Given the description of an element on the screen output the (x, y) to click on. 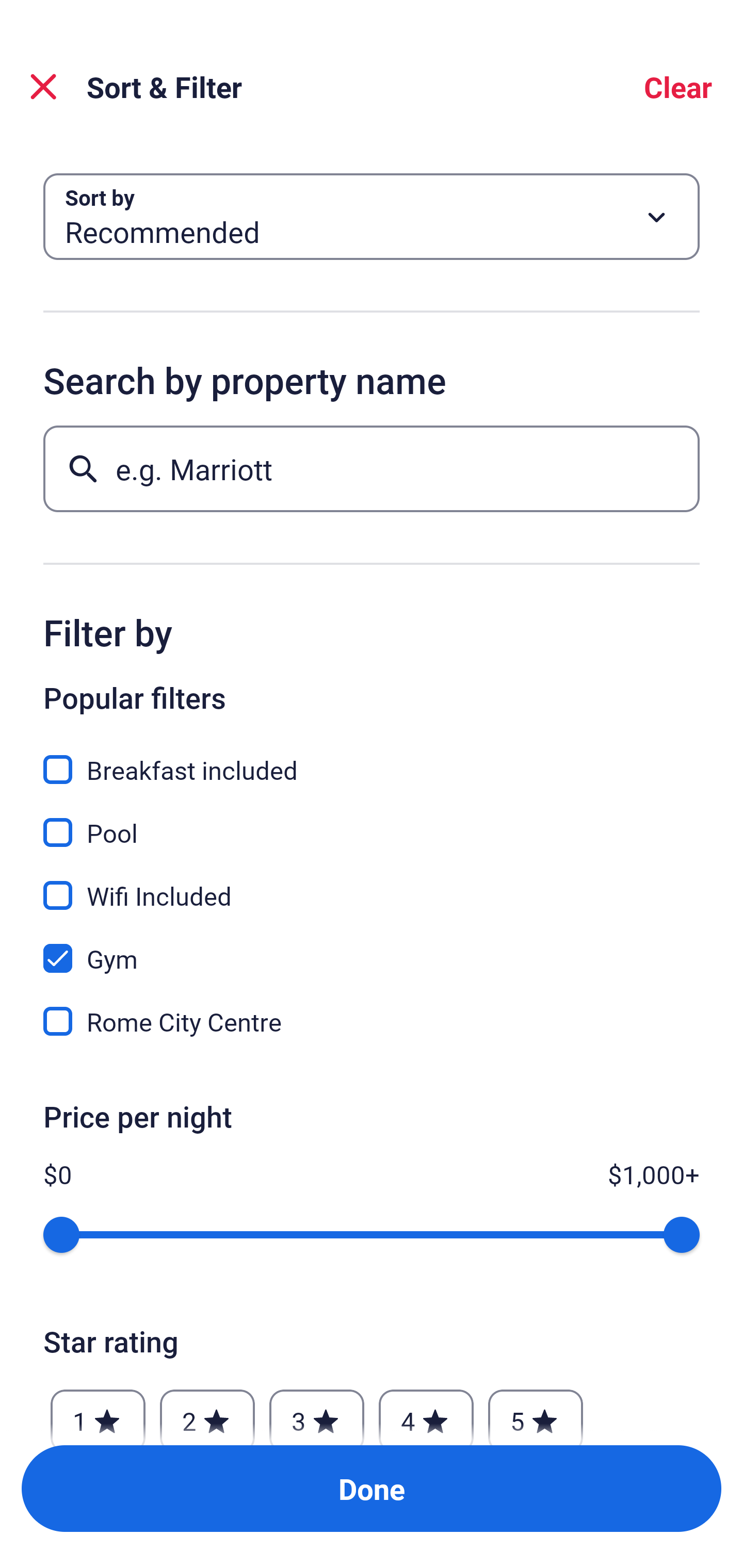
Close Sort and Filter (43, 86)
Clear (677, 86)
Sort by Button Recommended (371, 217)
e.g. Marriott Button (371, 468)
Breakfast included, Breakfast included (371, 757)
Pool, Pool (371, 821)
Wifi Included, Wifi Included (371, 883)
Gym, Gym (371, 946)
Rome City Centre, Rome City Centre (371, 1021)
1 (97, 1411)
2 (206, 1411)
3 (316, 1411)
4 (426, 1411)
5 (535, 1411)
Apply and close Sort and Filter Done (371, 1488)
